Given the description of an element on the screen output the (x, y) to click on. 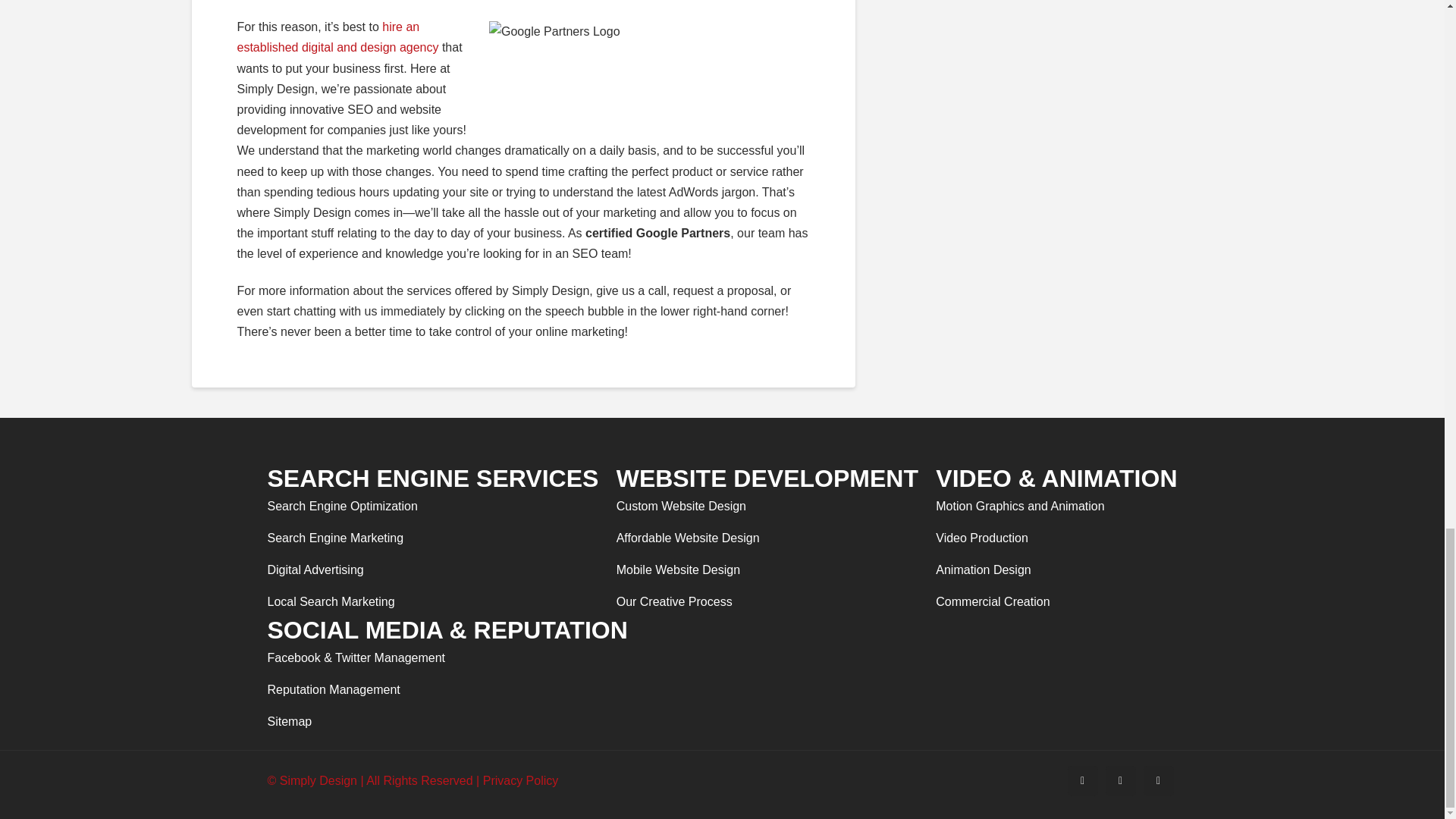
Tips for Hiring an SEO Company (336, 37)
Search Engine Marketing (341, 538)
hire an established digital and design agency (336, 37)
Custom Website Design (687, 506)
Local Search Marketing (341, 602)
Affordable Website Design (687, 538)
Digital Advertising (341, 570)
Search Engine Optimization (341, 506)
